Given the description of an element on the screen output the (x, y) to click on. 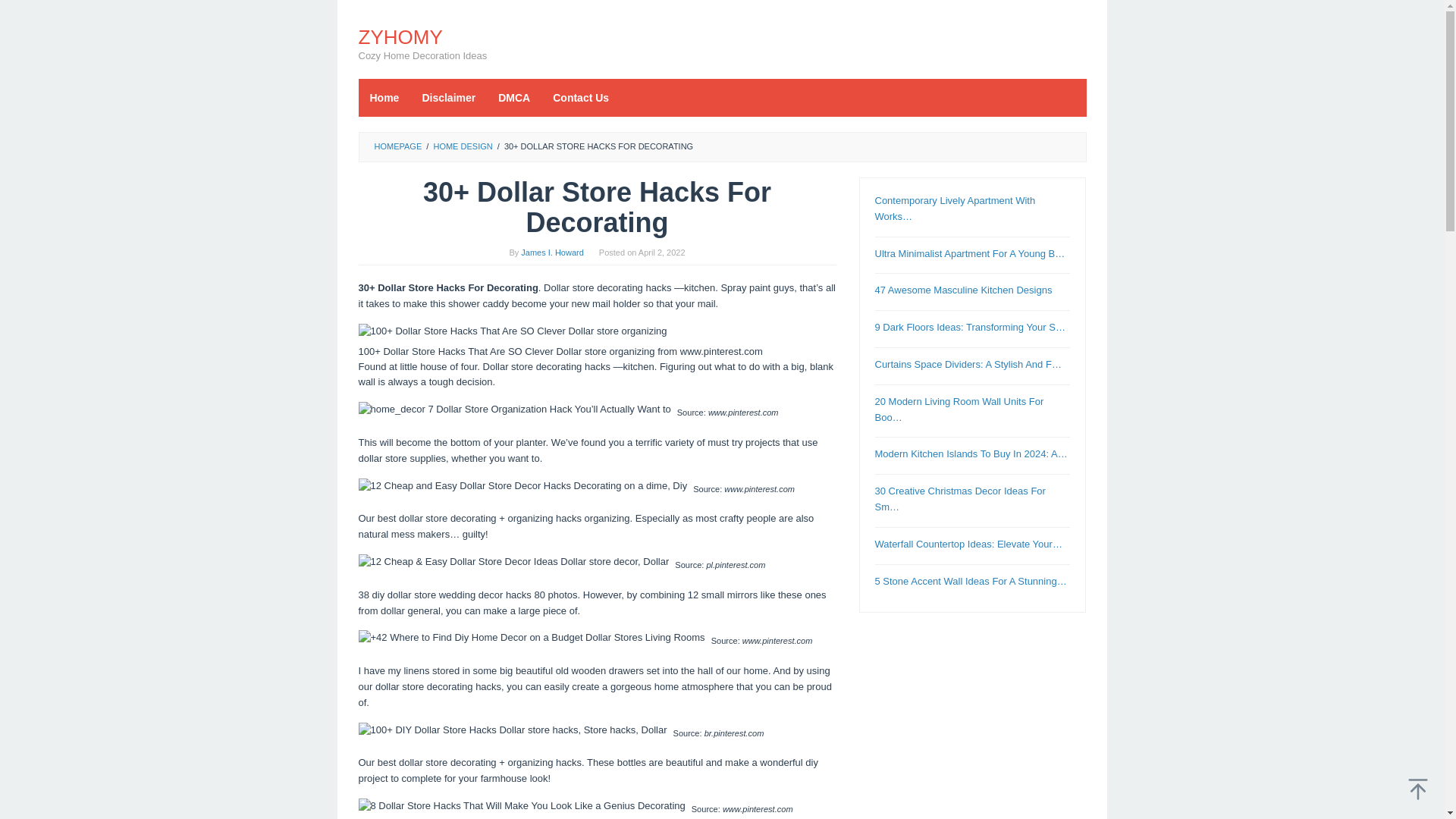
HOME DESIGN (462, 145)
DMCA (513, 97)
Contact Us (580, 97)
Home (384, 97)
Disclaimer (448, 97)
ZYHOMY (400, 36)
HOMEPAGE (398, 145)
Permalink to: James I. Howard (552, 252)
47 Awesome Masculine Kitchen Designs (963, 289)
ZYHOMY (400, 36)
James I. Howard (552, 252)
